Given the description of an element on the screen output the (x, y) to click on. 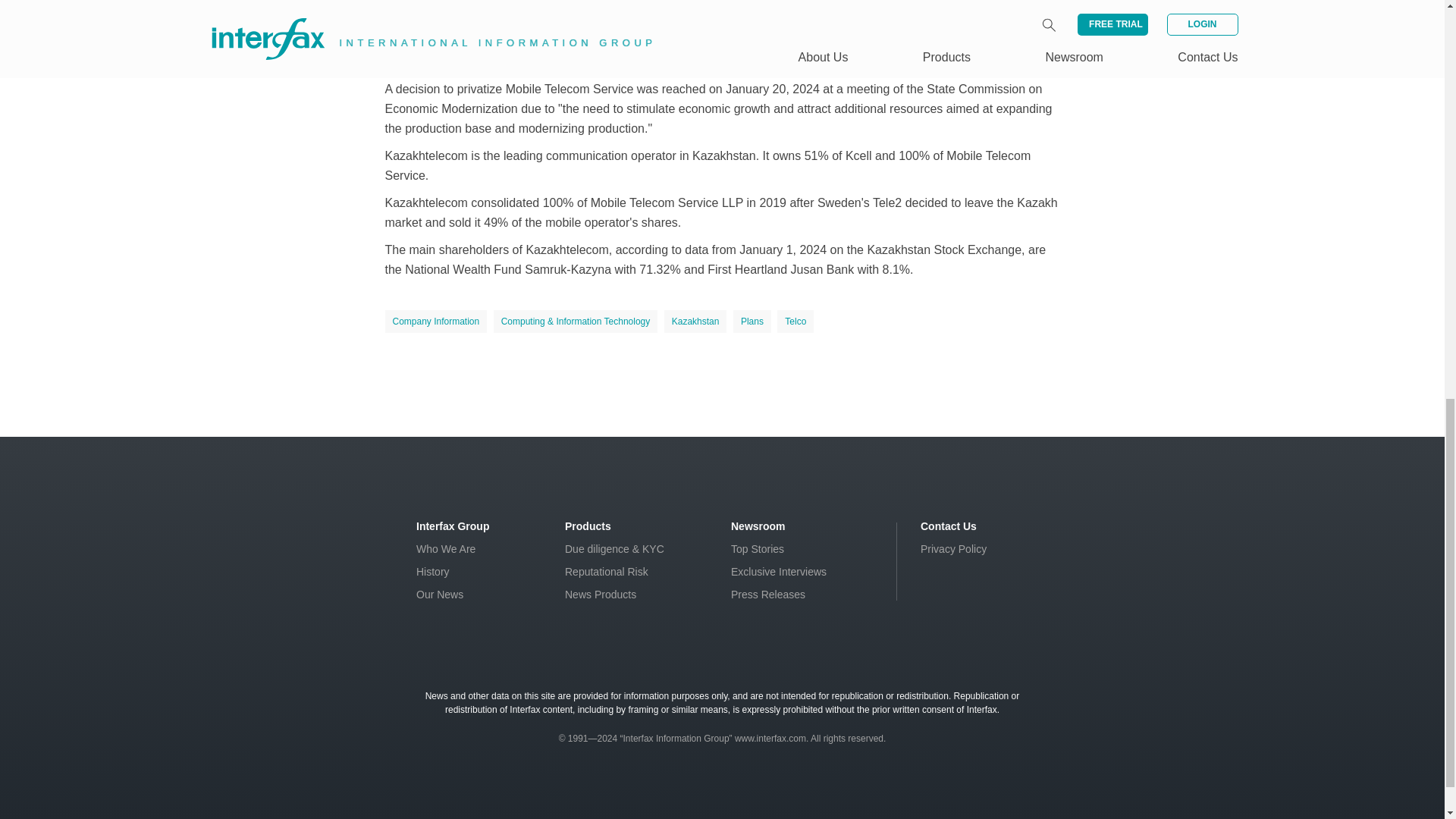
Company Information (436, 321)
Kazakhstan (694, 321)
Plans (752, 321)
